Given the description of an element on the screen output the (x, y) to click on. 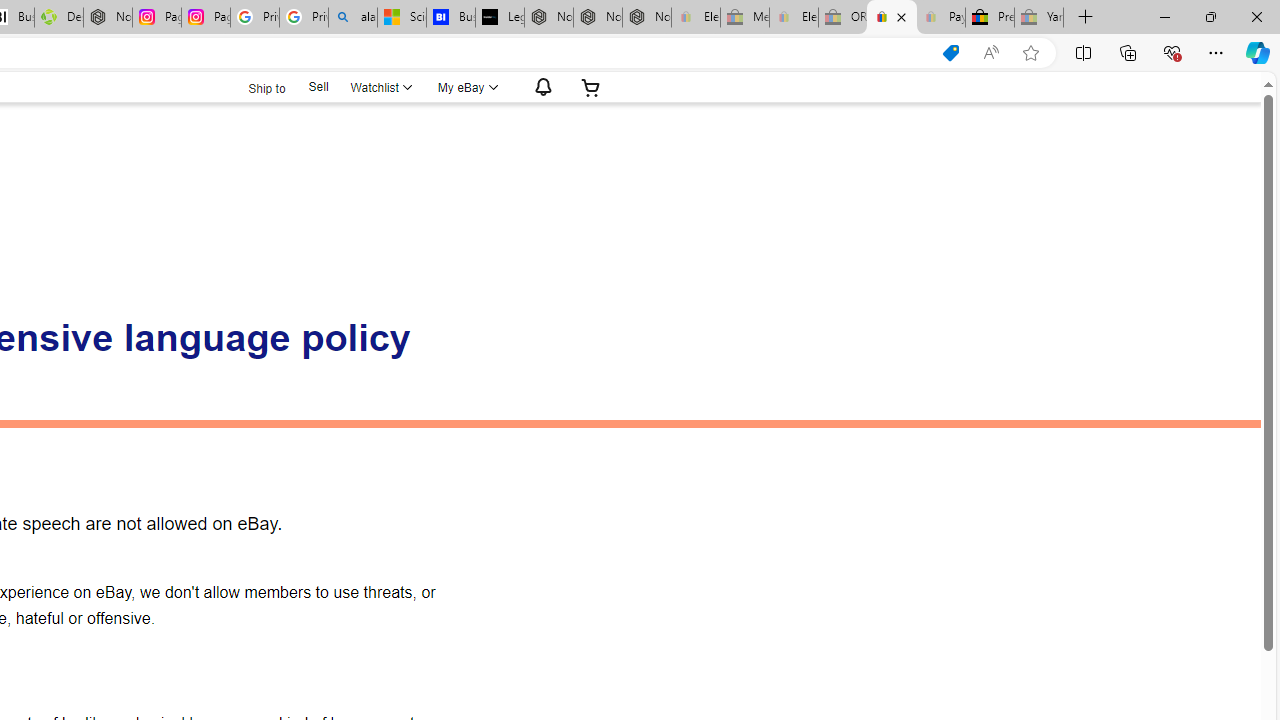
My eBay (466, 87)
Descarga Driver Updater (58, 17)
Expand Cart (591, 87)
Read aloud this page (Ctrl+Shift+U) (991, 53)
Collections (1128, 52)
Sell (318, 87)
Copilot (Ctrl+Shift+.) (1258, 52)
Restore (1210, 16)
My eBayExpand My eBay (466, 87)
AutomationID: gh-eb-Alerts (540, 87)
Ship to (253, 88)
